Given the description of an element on the screen output the (x, y) to click on. 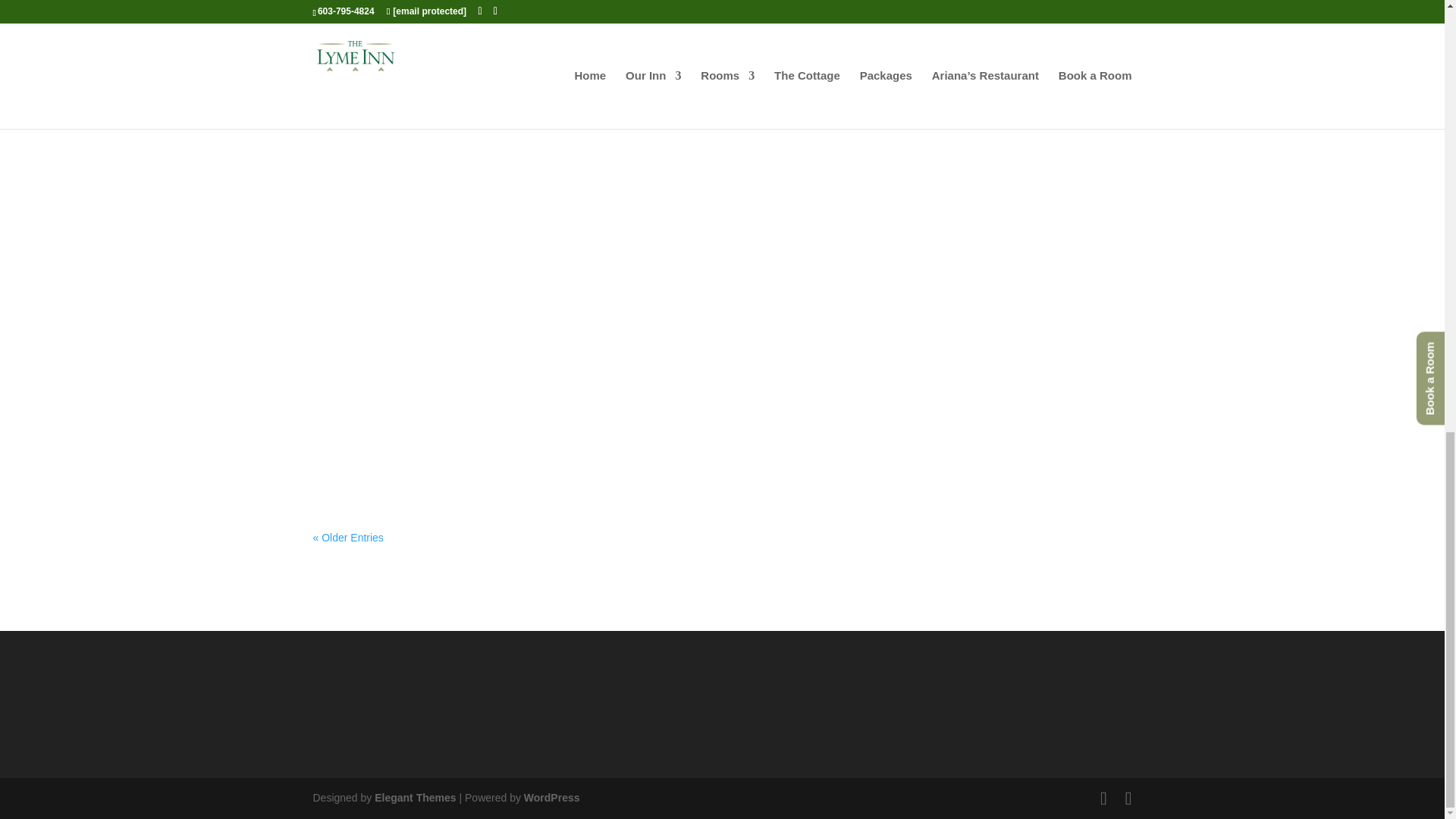
Elegant Themes (414, 797)
WordPress (551, 797)
Premium WordPress Themes (414, 797)
